Given the description of an element on the screen output the (x, y) to click on. 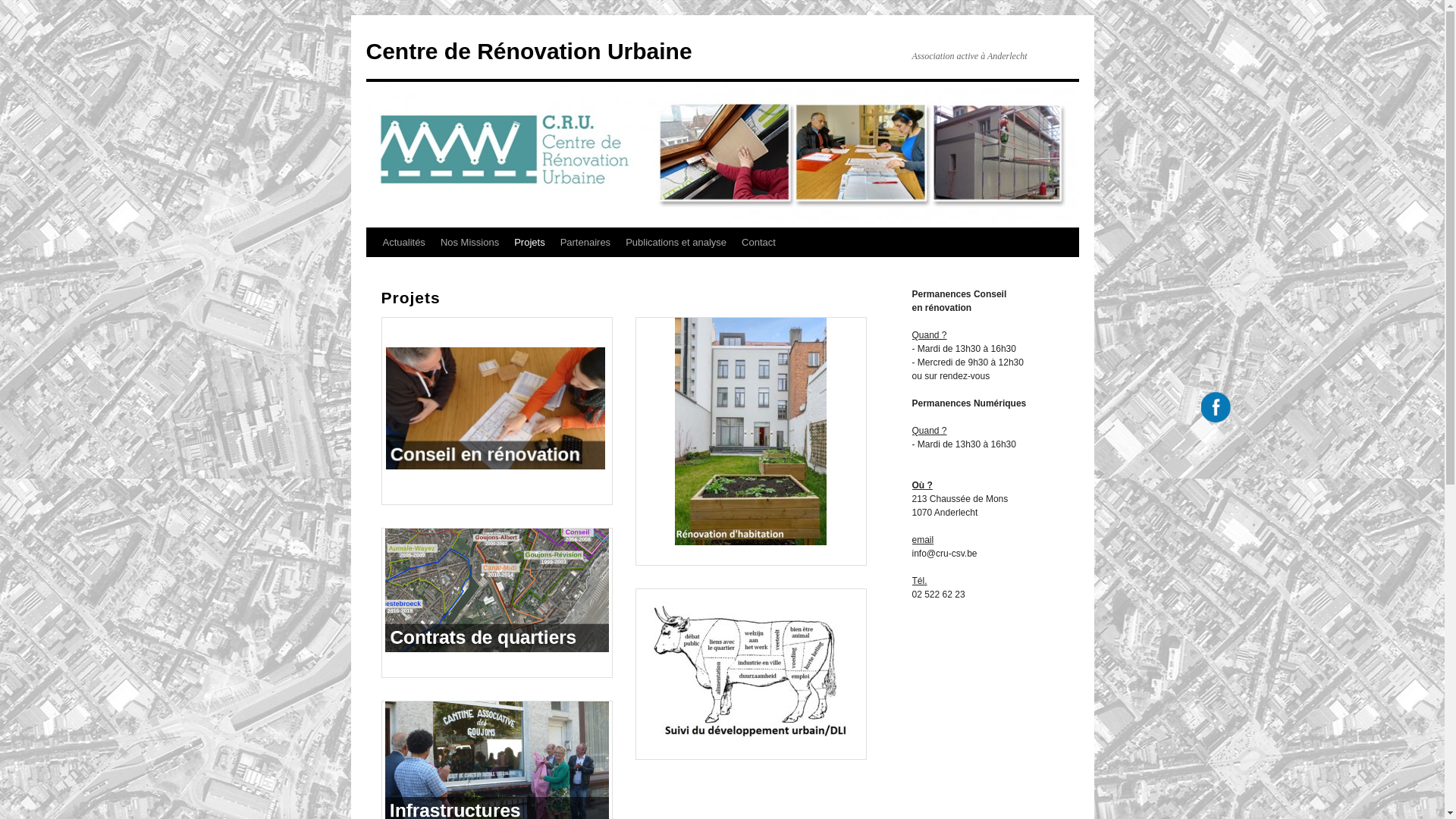
Contact Element type: text (758, 242)
Facebook Element type: hover (1216, 406)
Publications et analyse Element type: text (676, 242)
Aller au contenu Element type: text (372, 270)
Projets Element type: text (529, 242)
Partenaires Element type: text (585, 242)
Nos Missions Element type: text (469, 242)
